Given the description of an element on the screen output the (x, y) to click on. 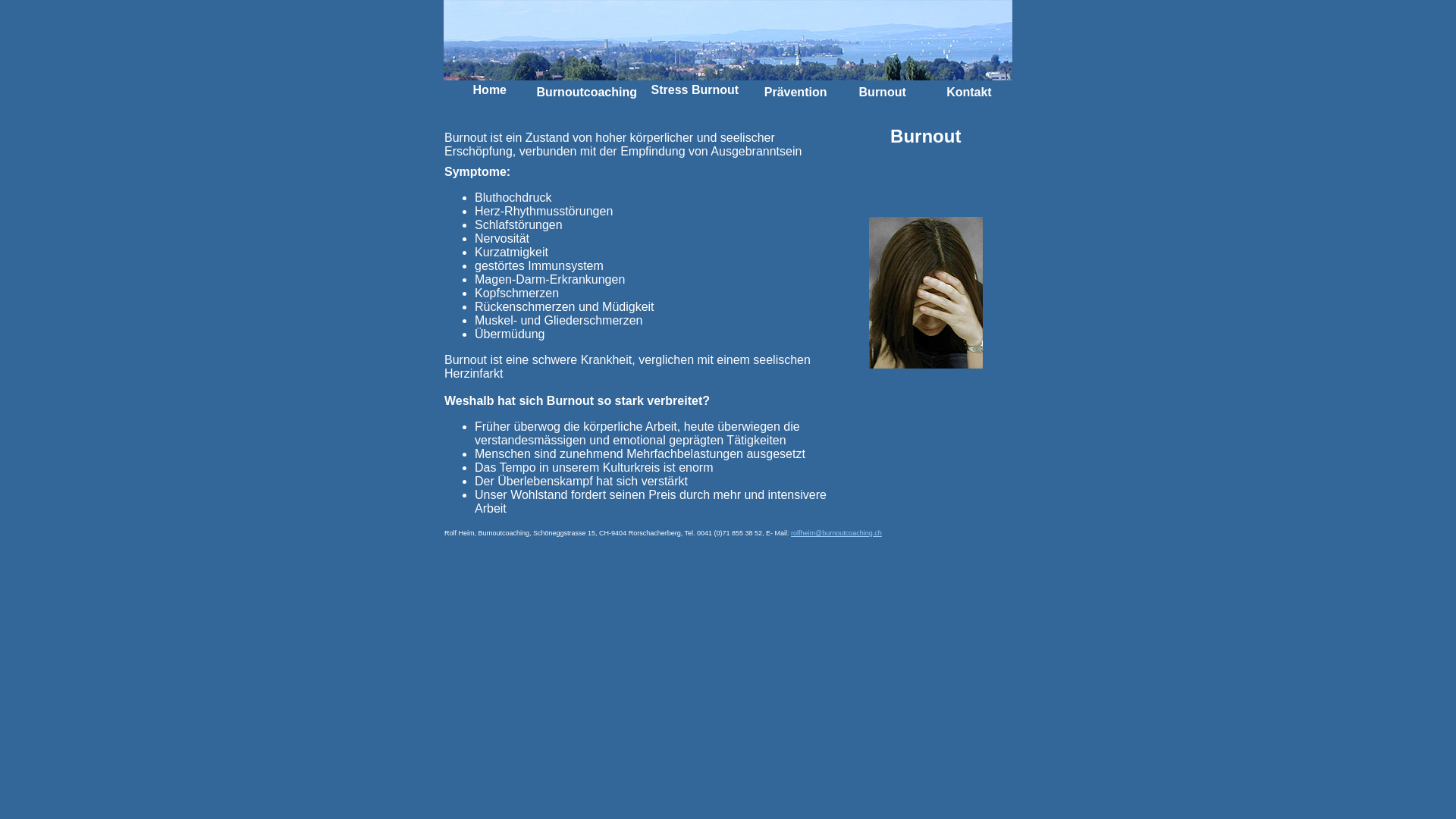
Home Element type: text (489, 89)
Burnout Element type: text (714, 89)
Burnout Element type: text (882, 93)
Kontakt Element type: text (968, 93)
rolfheim@burnoutcoaching.ch Element type: text (835, 532)
Stress Element type: text (669, 89)
Burnoutcoaching Element type: text (586, 93)
